Given the description of an element on the screen output the (x, y) to click on. 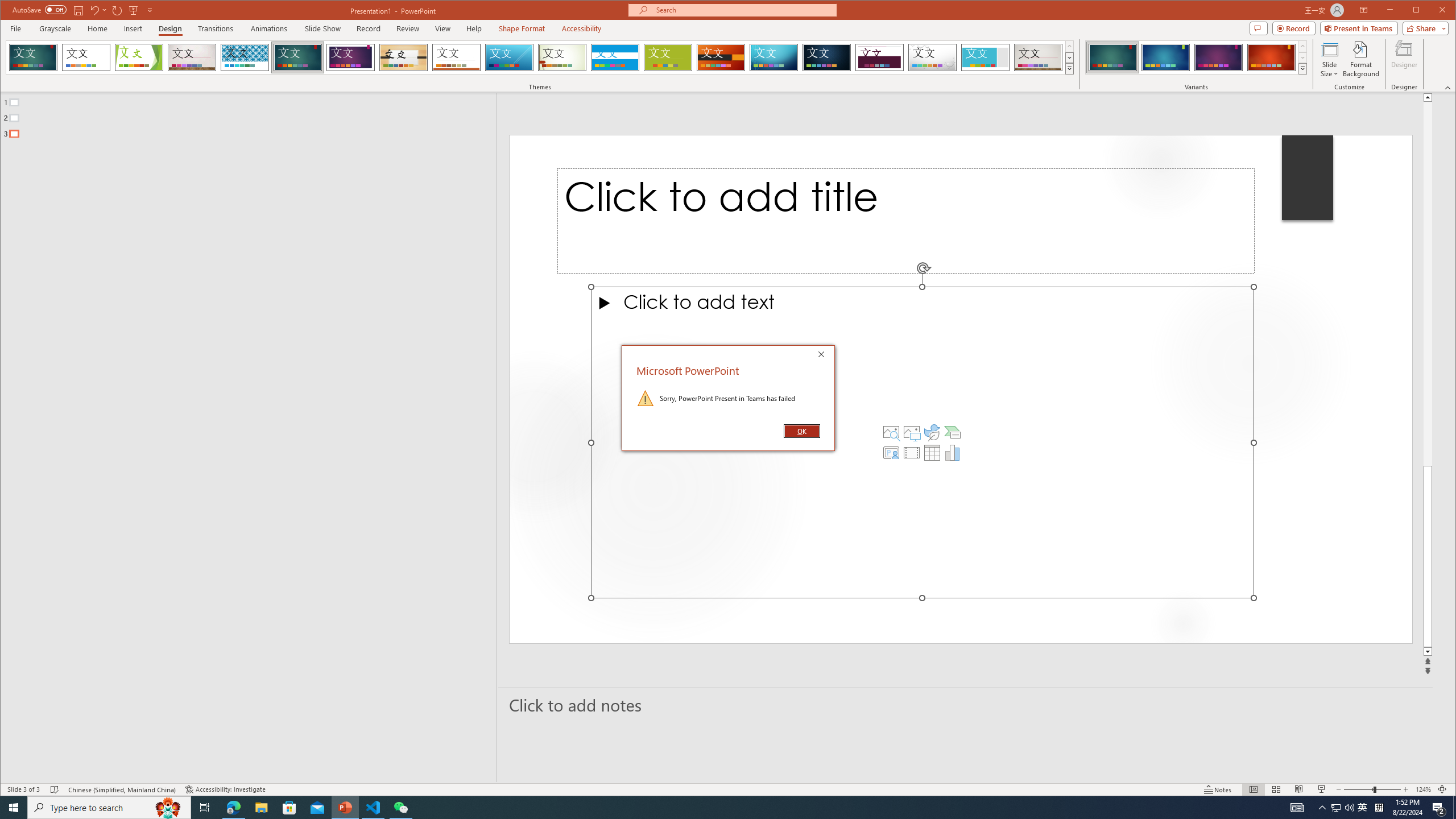
Insert a SmartArt Graphic (952, 432)
Notification Chevron (1322, 807)
Ion Variant 2 (1165, 57)
User Promoted Notification Area (1342, 807)
Berlin (720, 57)
Damask (826, 57)
Slice (509, 57)
Insert an Icon (931, 432)
